Given the description of an element on the screen output the (x, y) to click on. 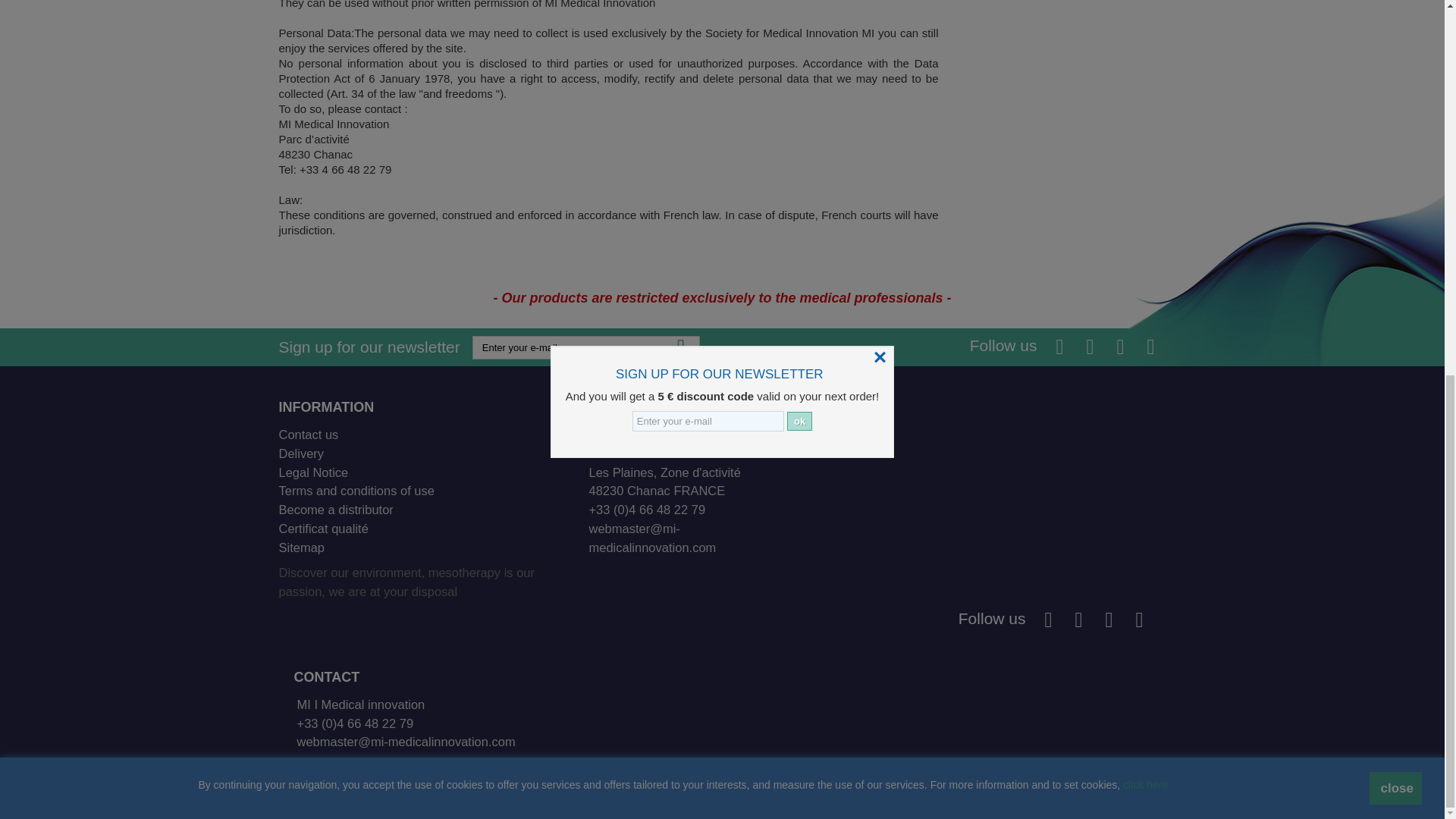
Enter your e-mail (585, 347)
